Given the description of an element on the screen output the (x, y) to click on. 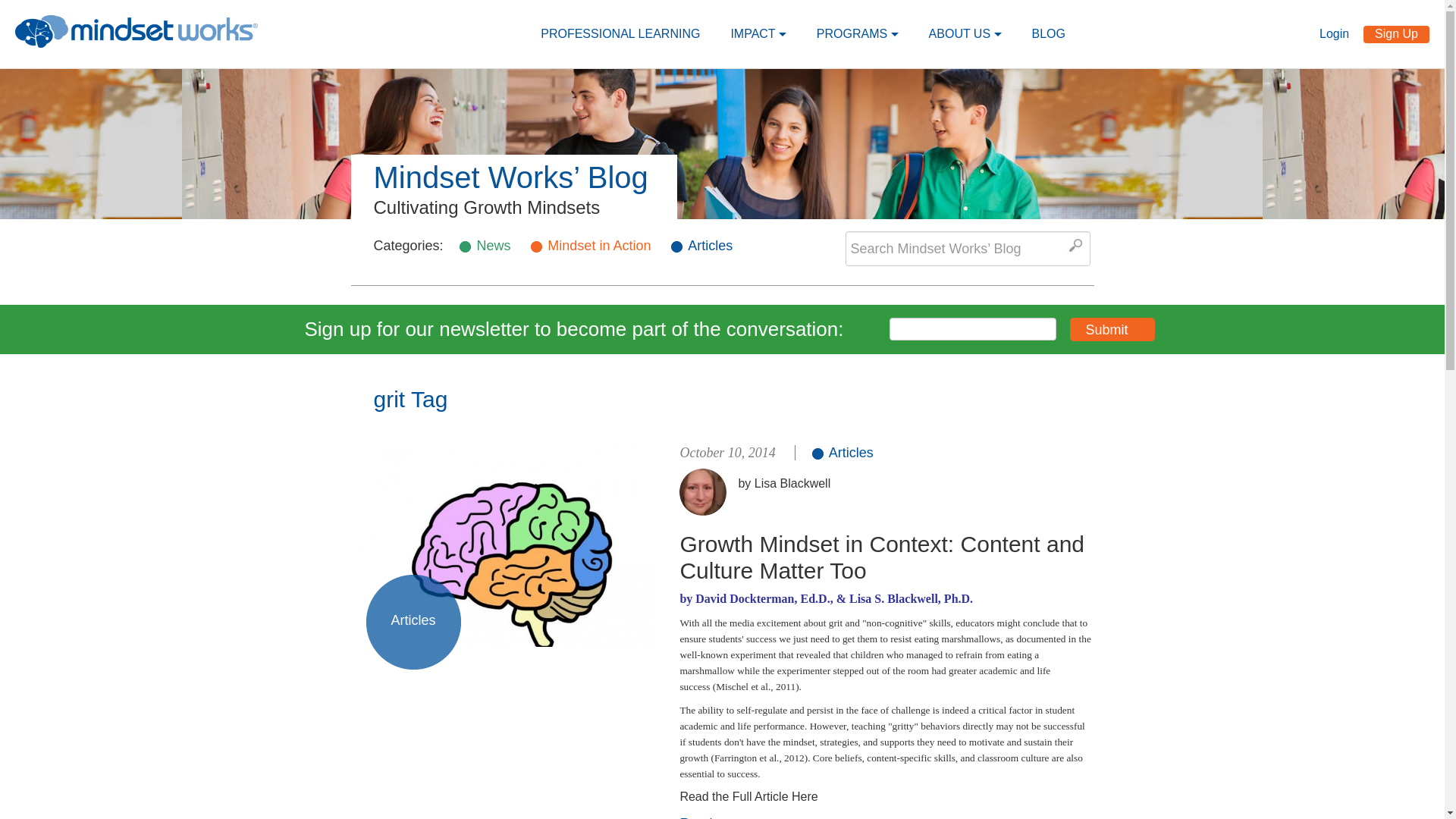
ABOUT US (965, 33)
Search (1075, 245)
Mindset in Action (598, 245)
Articles (841, 452)
PROFESSIONAL LEARNING (619, 33)
Articles (501, 547)
Login (1339, 33)
News (493, 245)
IMPACT (757, 33)
Articles (1112, 329)
PROGRAMS (709, 245)
Sign Up (858, 33)
BLOG (1395, 34)
